Given the description of an element on the screen output the (x, y) to click on. 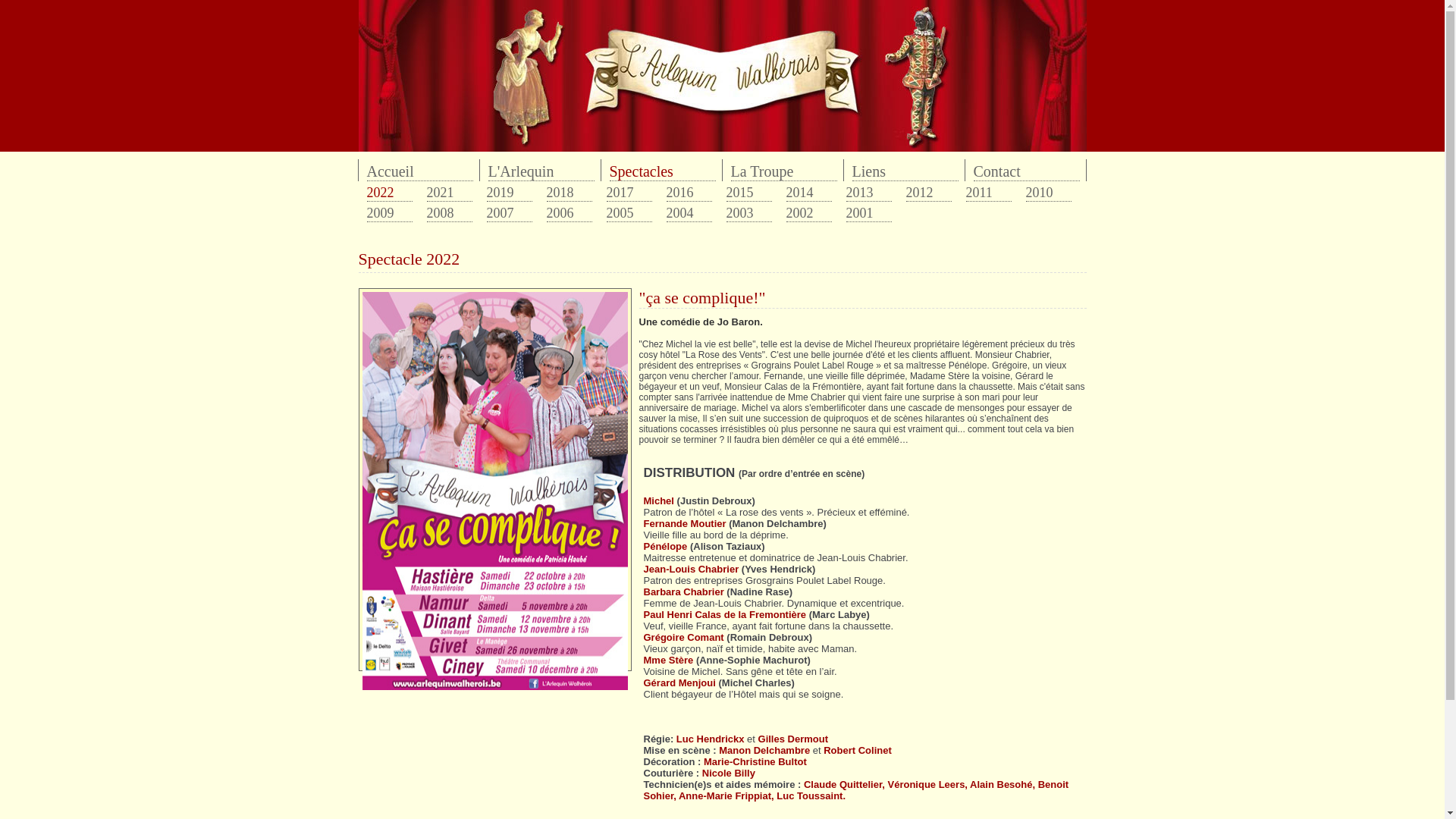
2007 Element type: text (509, 213)
2009 Element type: text (389, 213)
2001 Element type: text (868, 213)
2014 Element type: text (808, 193)
2015 Element type: text (748, 193)
Spectacles Element type: text (662, 172)
2016 Element type: text (688, 193)
2013 Element type: text (868, 193)
2012 Element type: text (927, 193)
2004 Element type: text (688, 213)
2022 Element type: text (389, 193)
2006 Element type: text (568, 213)
Contact Element type: text (1026, 172)
2003 Element type: text (748, 213)
L'Arlequin Element type: text (541, 172)
2008 Element type: text (448, 213)
2021 Element type: text (448, 193)
2011 Element type: text (988, 193)
2002 Element type: text (808, 213)
2017 Element type: text (629, 193)
2018 Element type: text (568, 193)
Accueil Element type: text (420, 172)
Liens Element type: text (905, 172)
La Troupe Element type: text (784, 172)
2005 Element type: text (629, 213)
2010 Element type: text (1047, 193)
2019 Element type: text (509, 193)
